Given the description of an element on the screen output the (x, y) to click on. 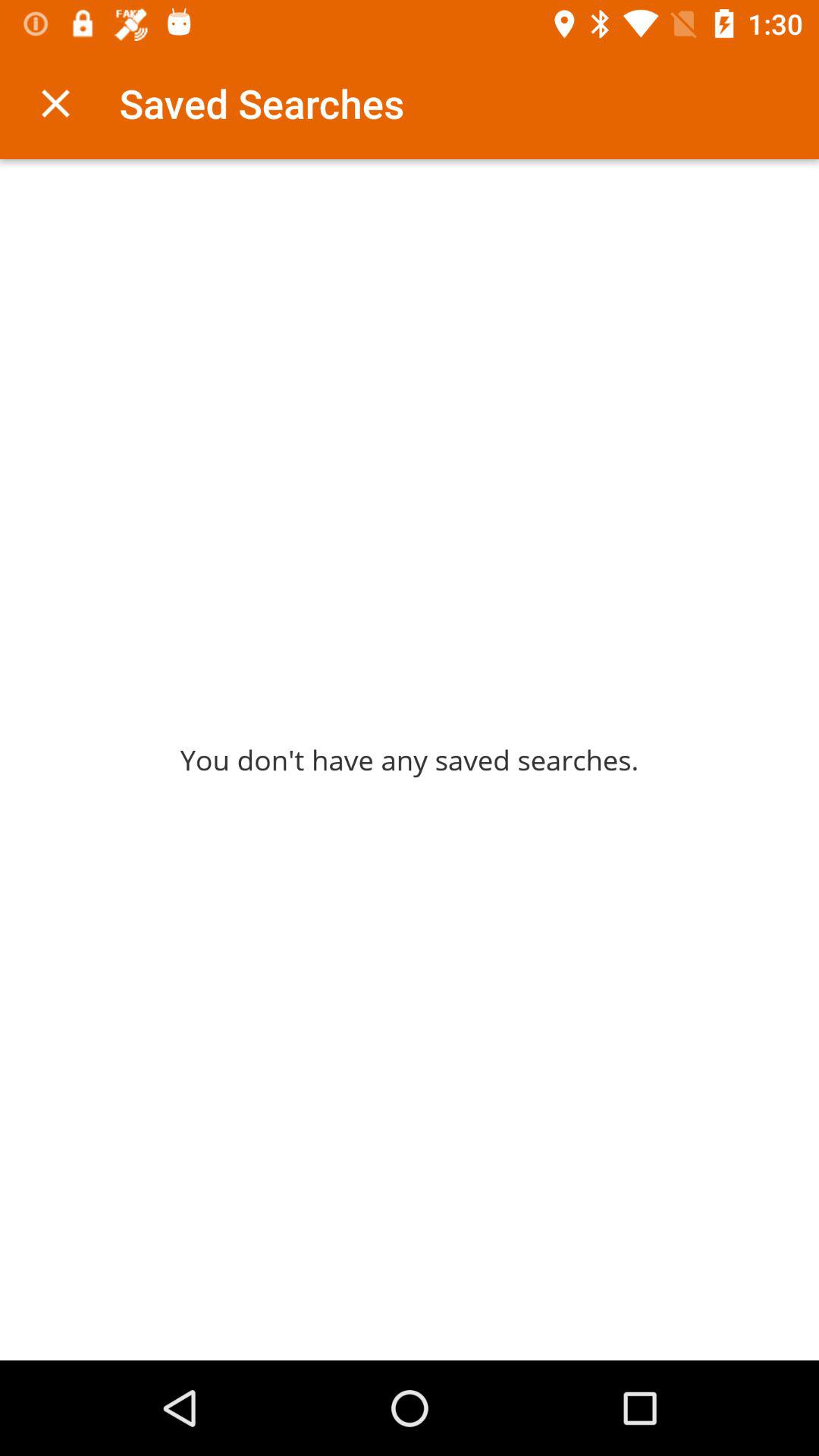
close search (55, 103)
